Given the description of an element on the screen output the (x, y) to click on. 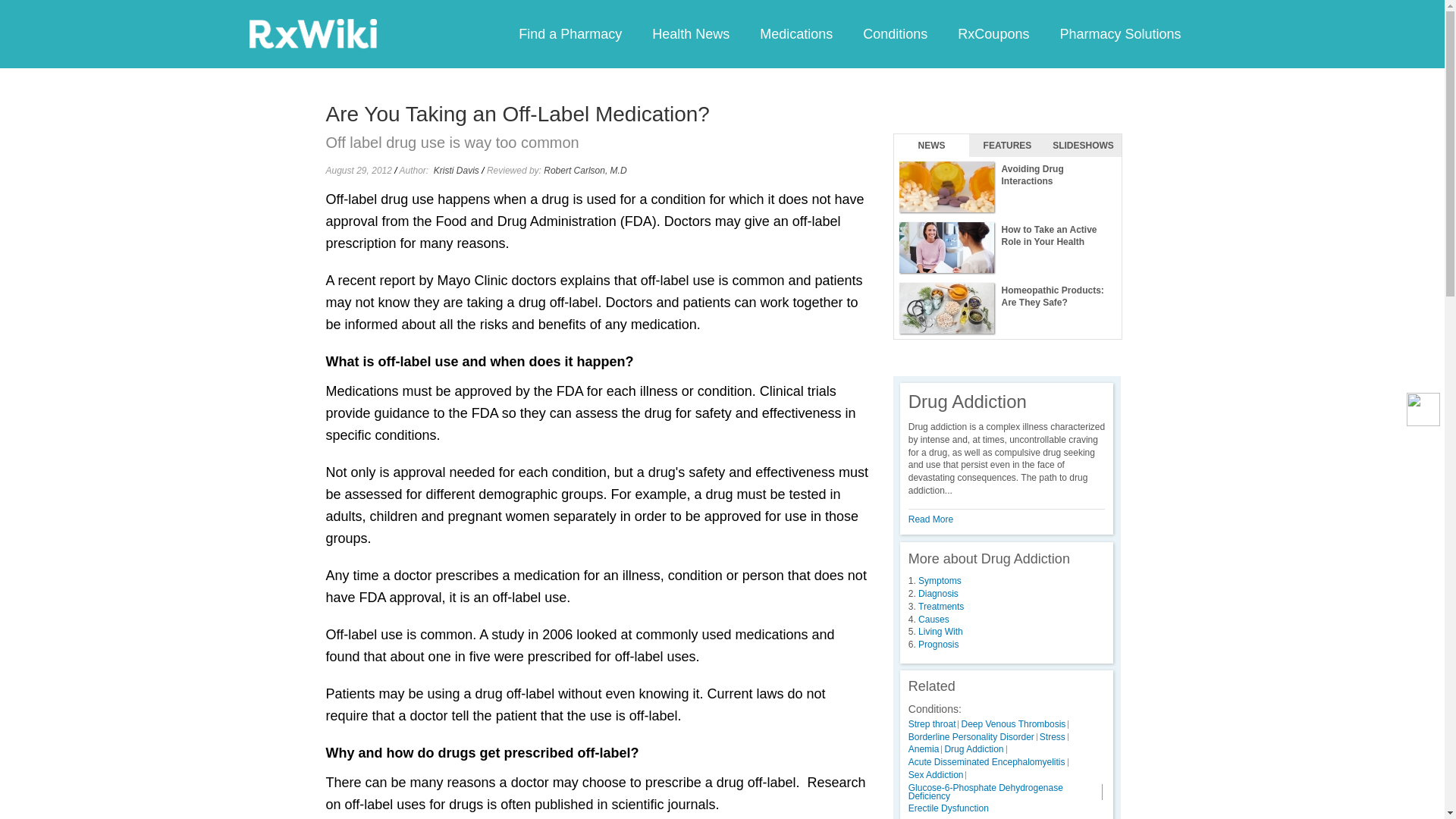
SLIDESHOWS (1083, 145)
Homeopathic Products: Are They Safe? (1007, 308)
Symptoms (939, 580)
Kristi Davis (456, 170)
Pharmacy Solutions (1119, 33)
Find a Pharmacy (570, 33)
Medications (795, 33)
Robert Carlson, M.D (584, 170)
Conditions (894, 33)
Read More (930, 519)
